Given the description of an element on the screen output the (x, y) to click on. 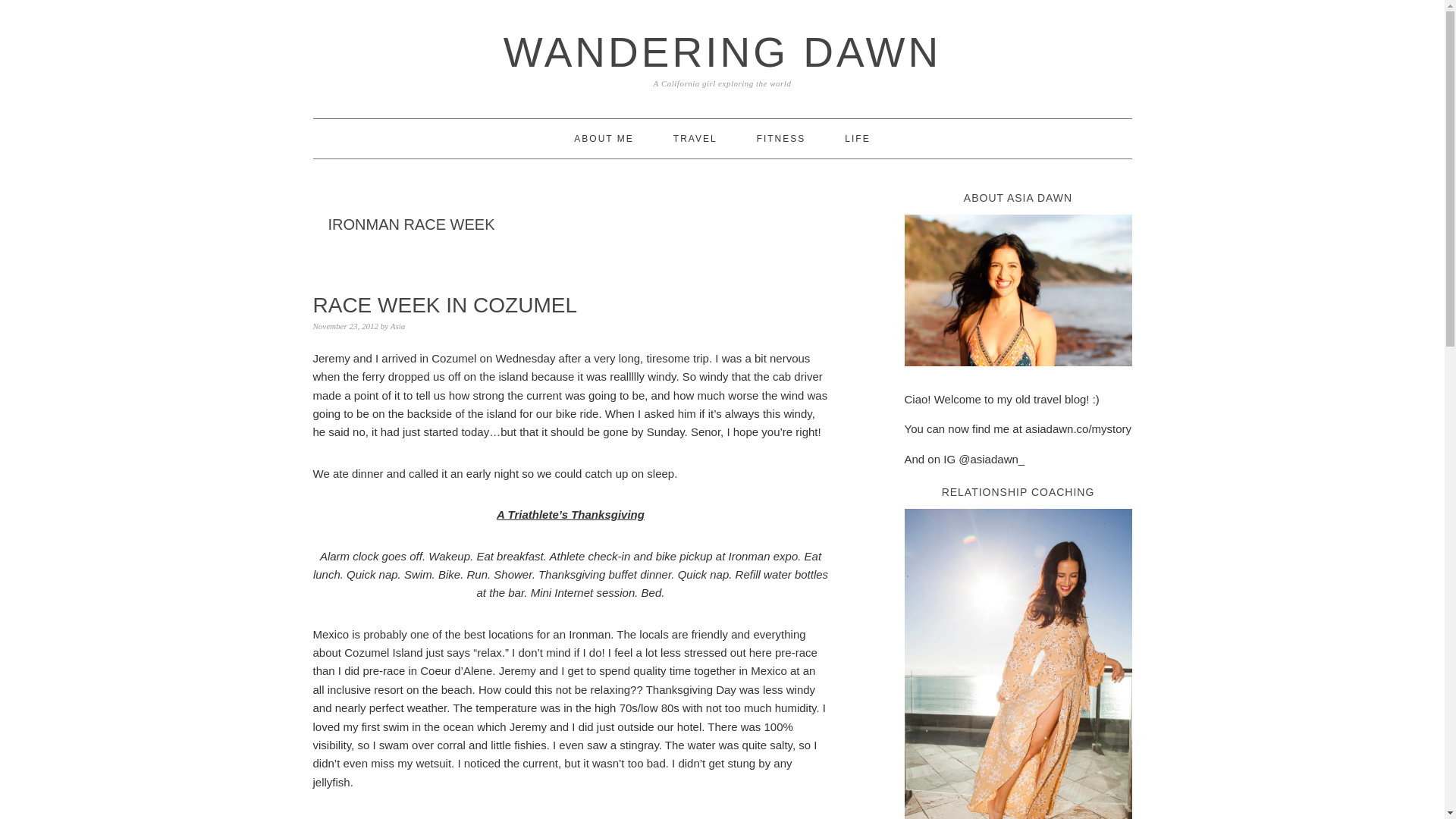
Asia (398, 325)
LIFE (856, 138)
RACE WEEK IN COZUMEL (444, 304)
About Me (1017, 377)
ABOUT ME (603, 138)
TRAVEL (694, 138)
FITNESS (781, 138)
WANDERING DAWN (721, 52)
